Given the description of an element on the screen output the (x, y) to click on. 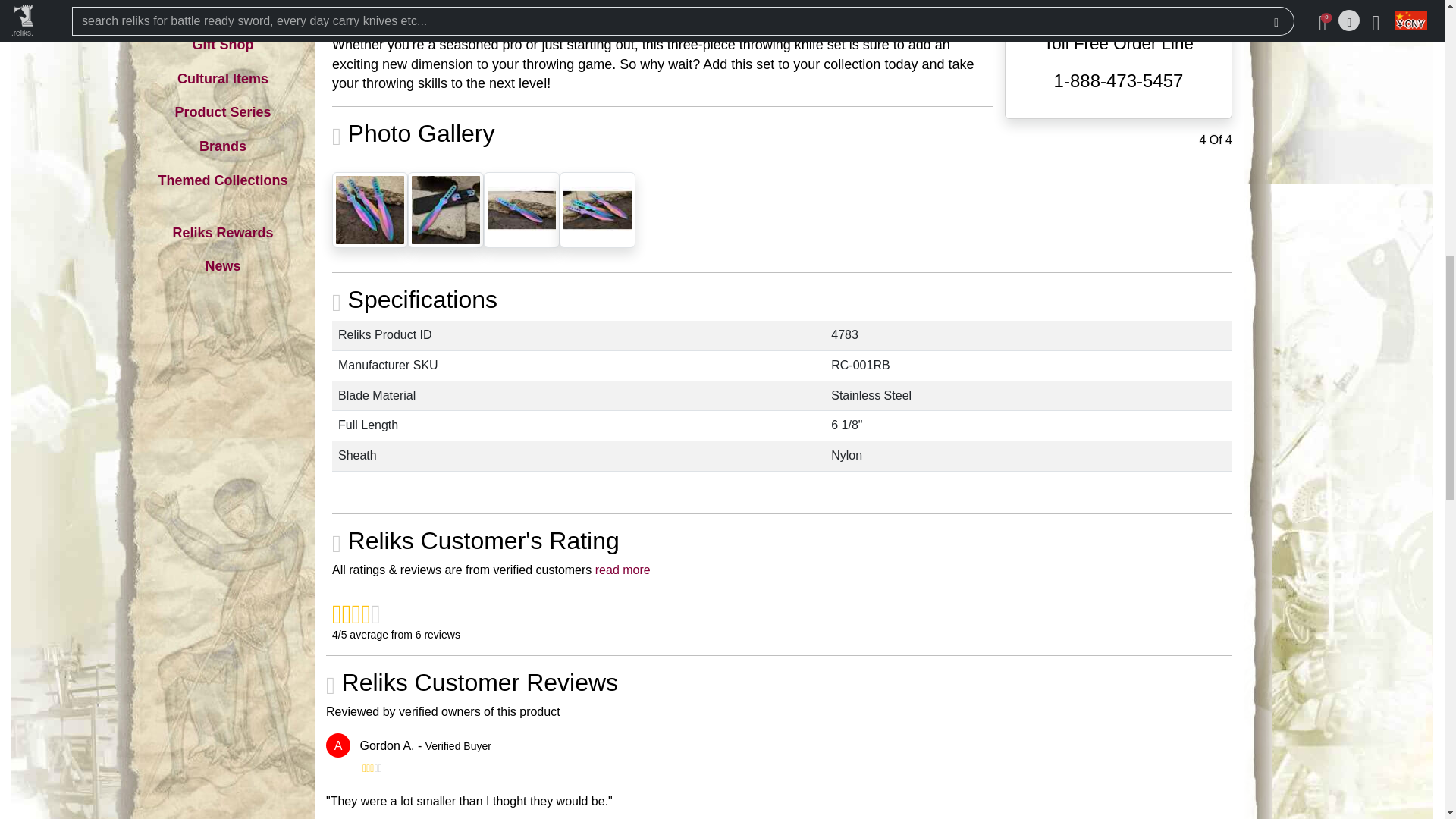
Rainbow effect on the Perfect Point throwing knife (521, 208)
Perfect Point Anodized Throwers (369, 208)
read more (622, 569)
All three pieces fit into the included nylon sheath (445, 208)
Perfect Point anodized folders (596, 208)
